Given the description of an element on the screen output the (x, y) to click on. 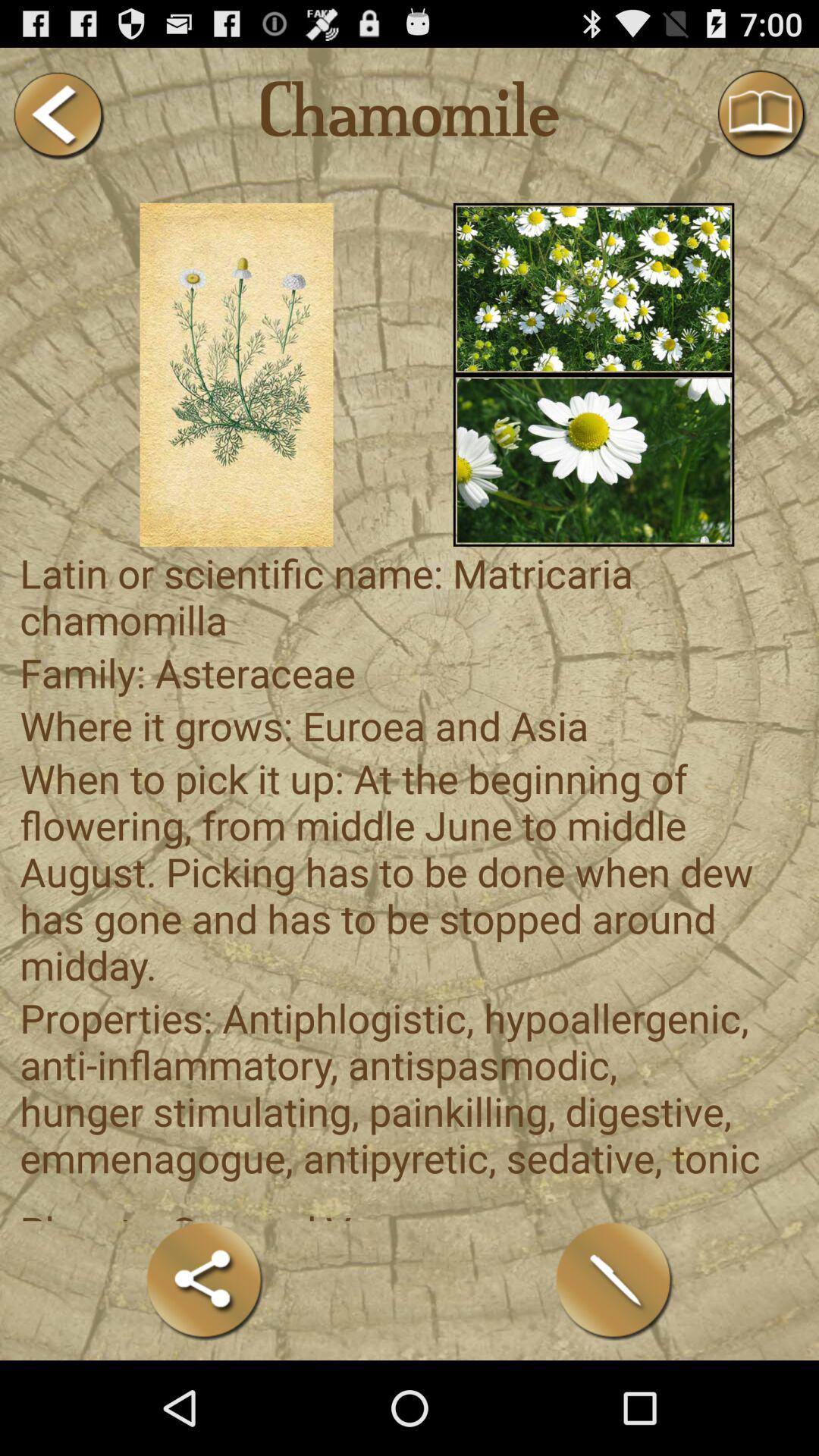
launch the icon at the bottom right corner (614, 1280)
